Given the description of an element on the screen output the (x, y) to click on. 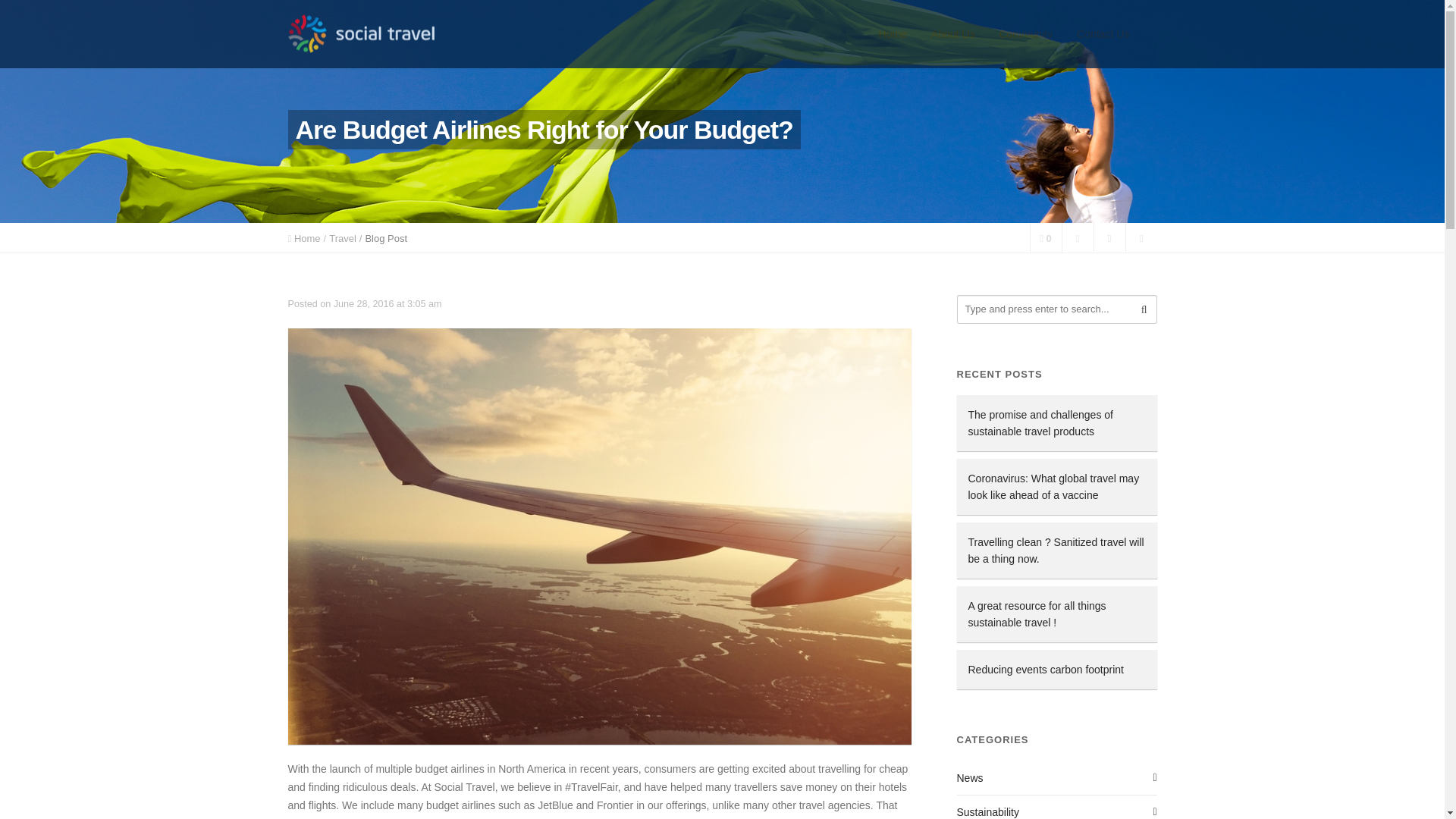
Contact Us (1102, 33)
Community (1025, 33)
Prev (1077, 237)
Home (892, 33)
About Us (952, 33)
Travel (342, 238)
Home (307, 238)
Go to Comments (1045, 237)
0 (1045, 237)
Next (1109, 237)
Share (1140, 237)
